Given the description of an element on the screen output the (x, y) to click on. 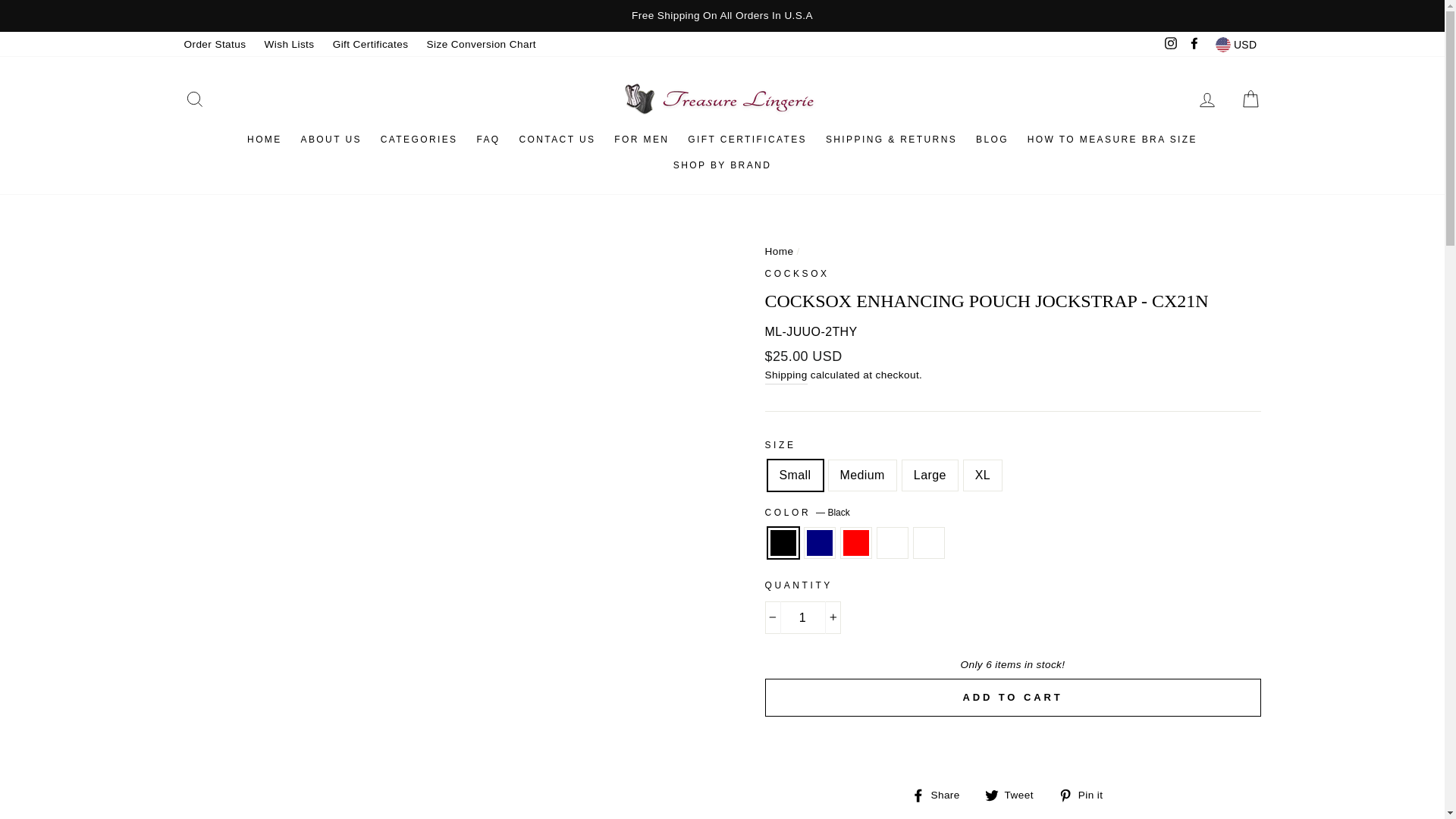
Share on Facebook (941, 794)
Tweet on Twitter (1015, 794)
1 (802, 617)
